Given the description of an element on the screen output the (x, y) to click on. 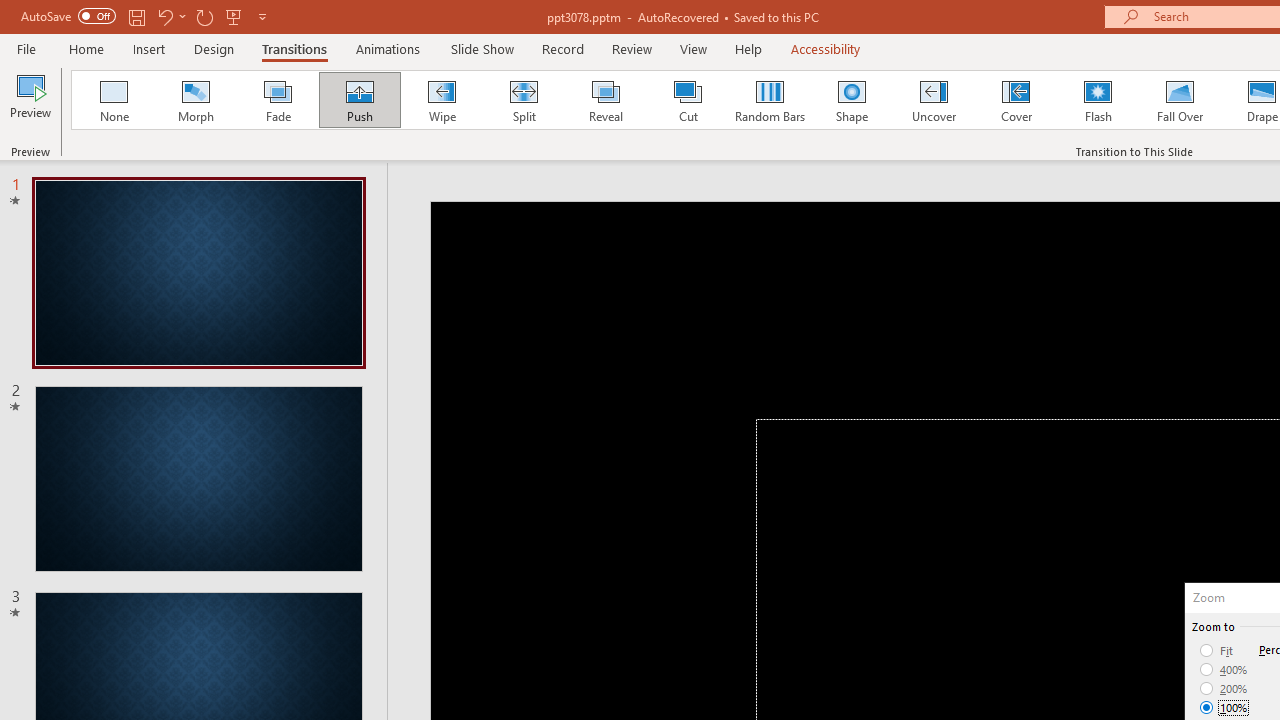
Push (359, 100)
Flash (1098, 100)
Shape (852, 100)
Split (523, 100)
Wipe (441, 100)
